Given the description of an element on the screen output the (x, y) to click on. 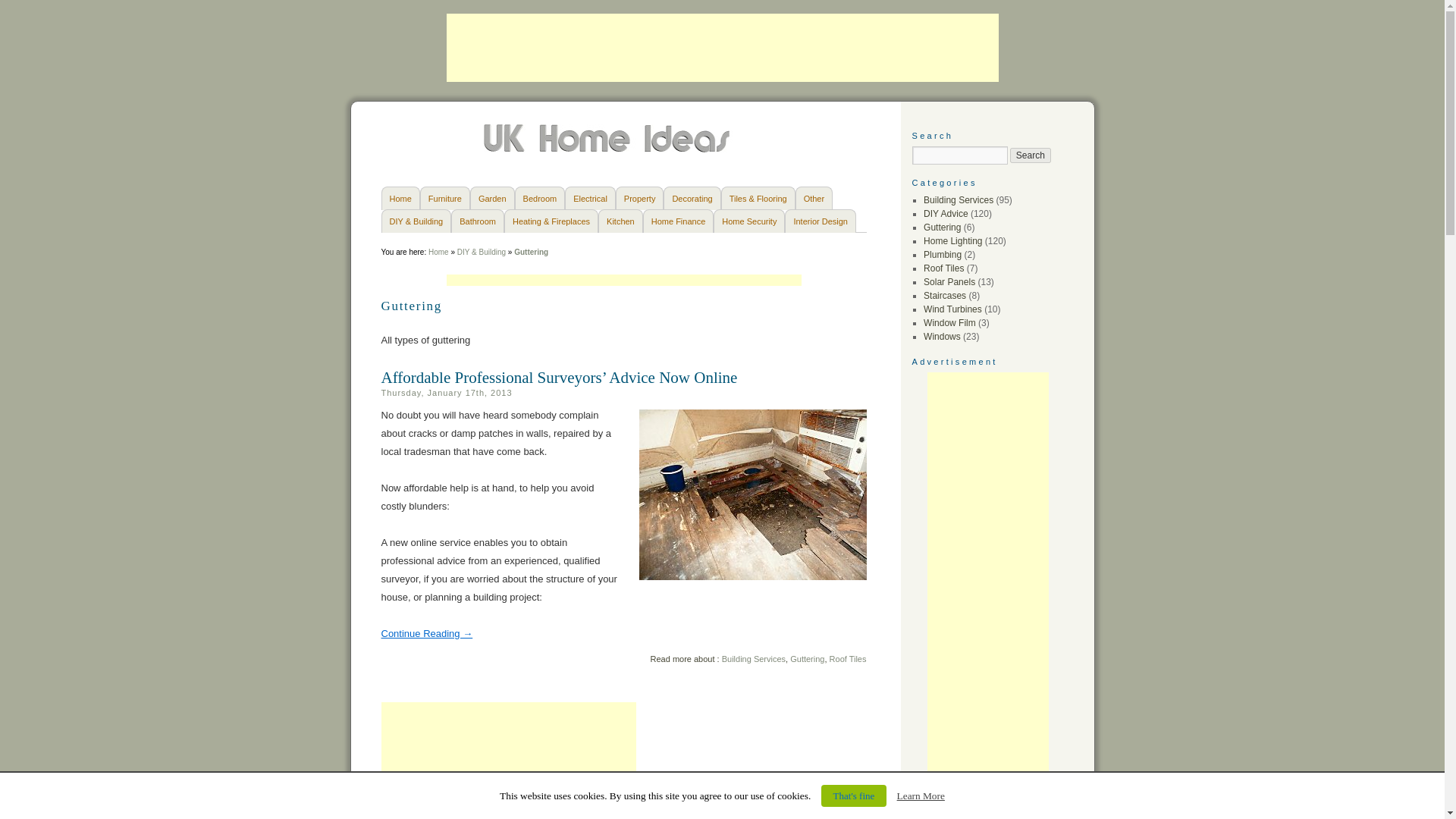
Other (813, 197)
Advertisement (507, 760)
Search (1030, 155)
Garden (492, 197)
Home Finance (678, 220)
Furniture (445, 197)
Decorating (691, 197)
Advertisement (721, 47)
Interior Design (820, 220)
Guttering (807, 658)
Home (399, 197)
Roof Tiles (847, 658)
UK Home Ideas (608, 149)
Advertisement (622, 281)
Home Security (748, 220)
